Given the description of an element on the screen output the (x, y) to click on. 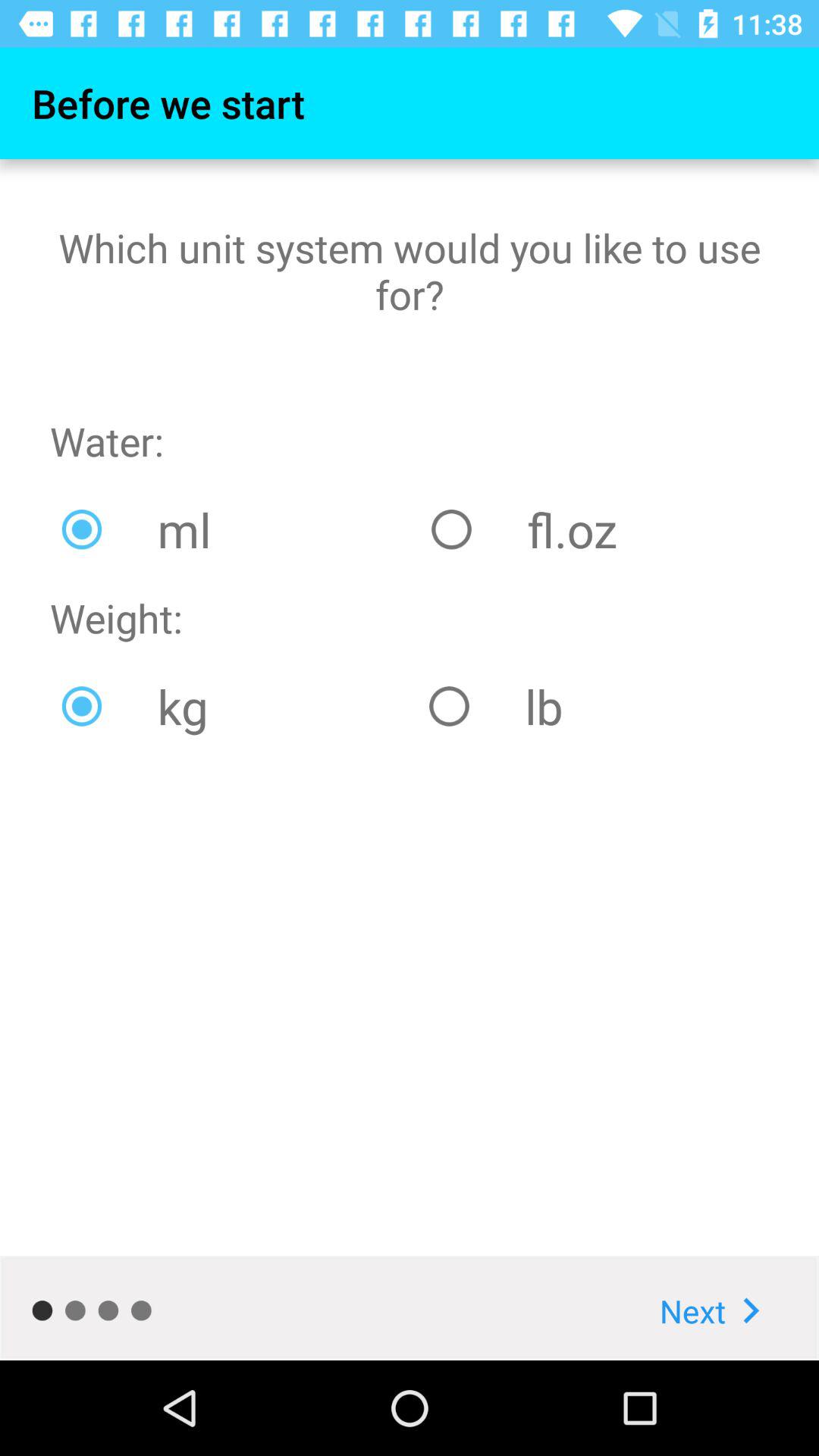
select kg (233, 706)
